Given the description of an element on the screen output the (x, y) to click on. 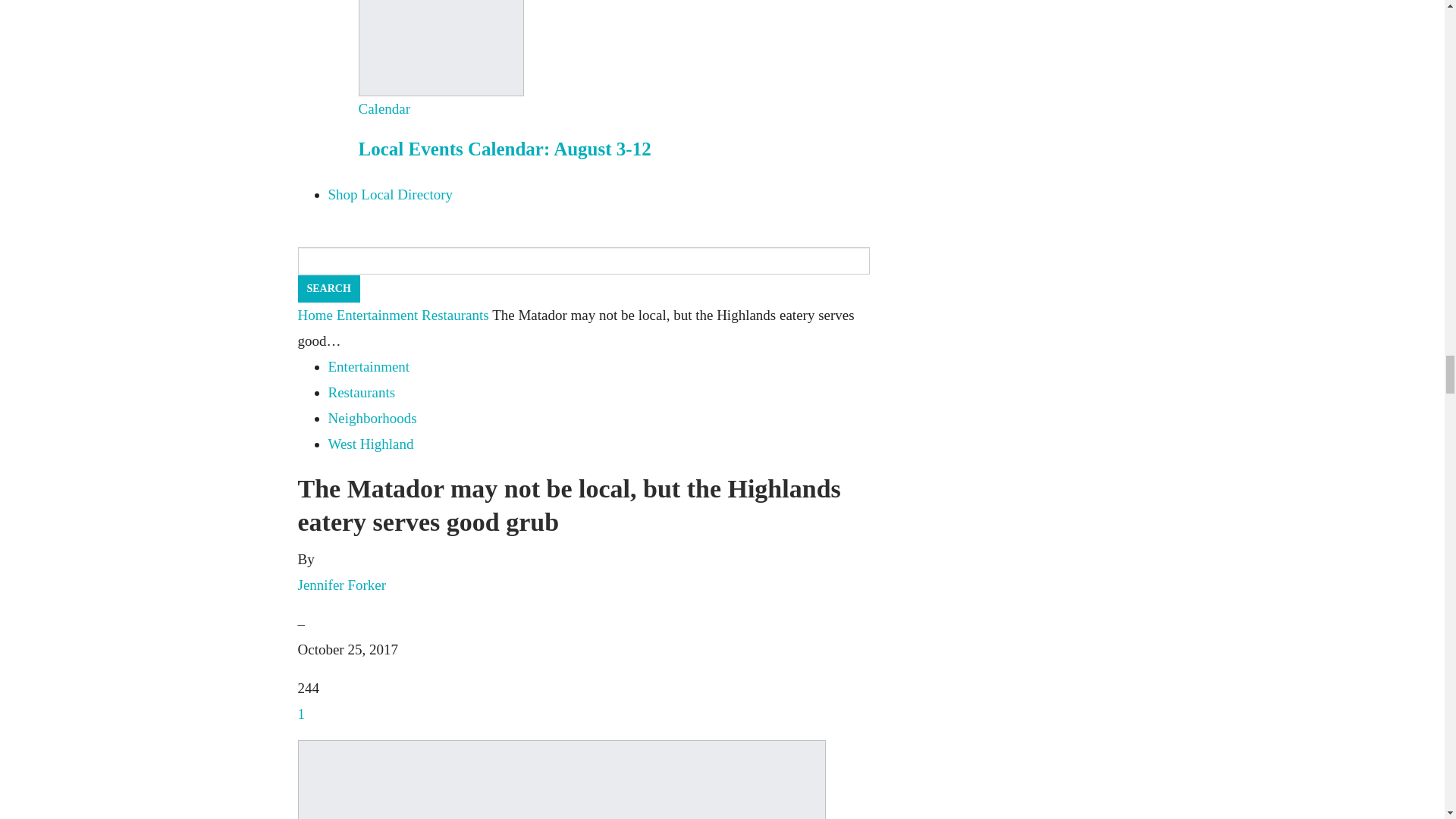
Search (328, 288)
